Given the description of an element on the screen output the (x, y) to click on. 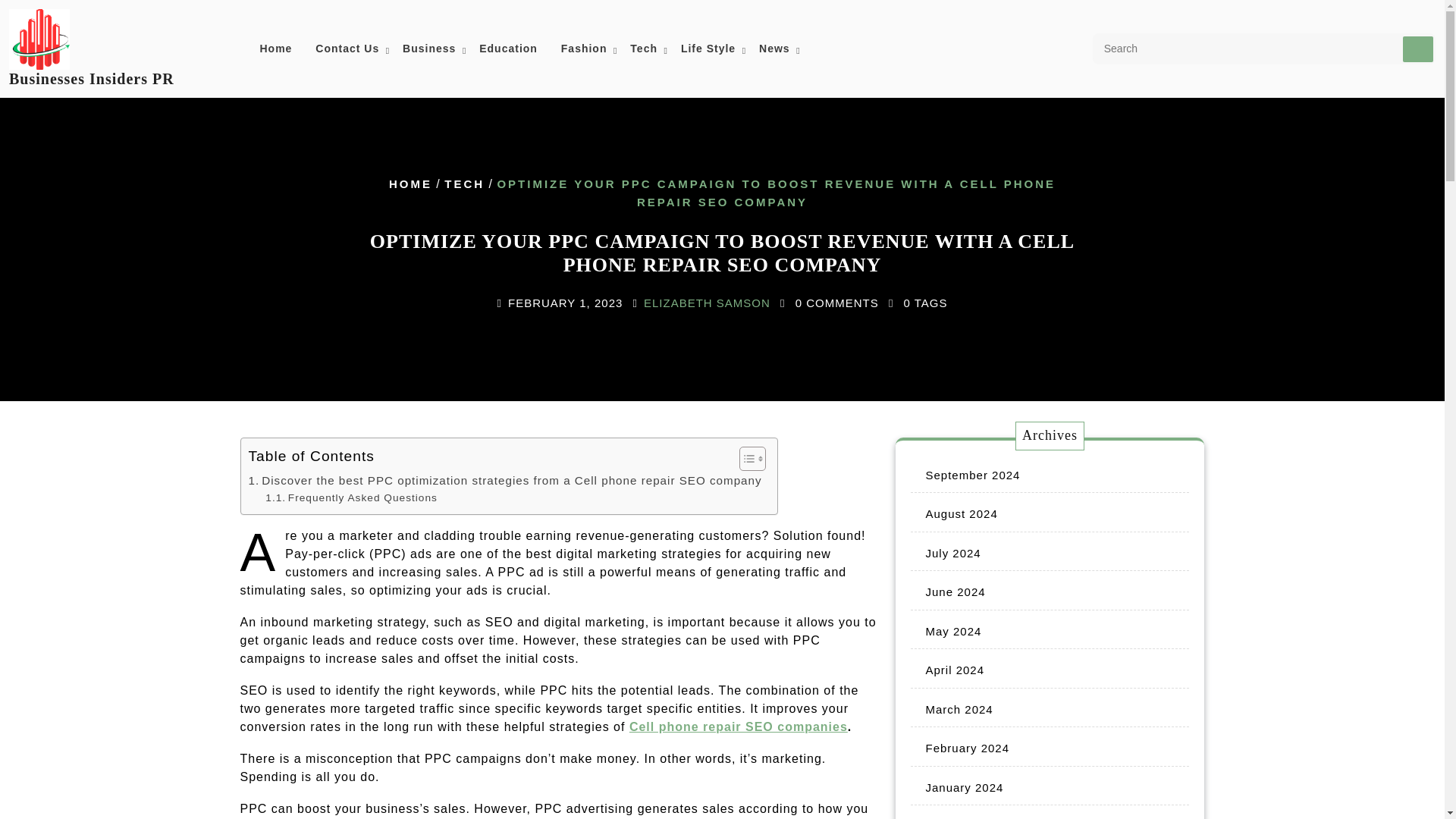
News (774, 49)
Tech (643, 49)
Fashion (584, 49)
Search (1417, 49)
Frequently Asked Questions (351, 497)
Life Style (708, 49)
TECH (464, 183)
Home (276, 49)
HOME (410, 183)
Businesses Insiders PR (91, 78)
